Given the description of an element on the screen output the (x, y) to click on. 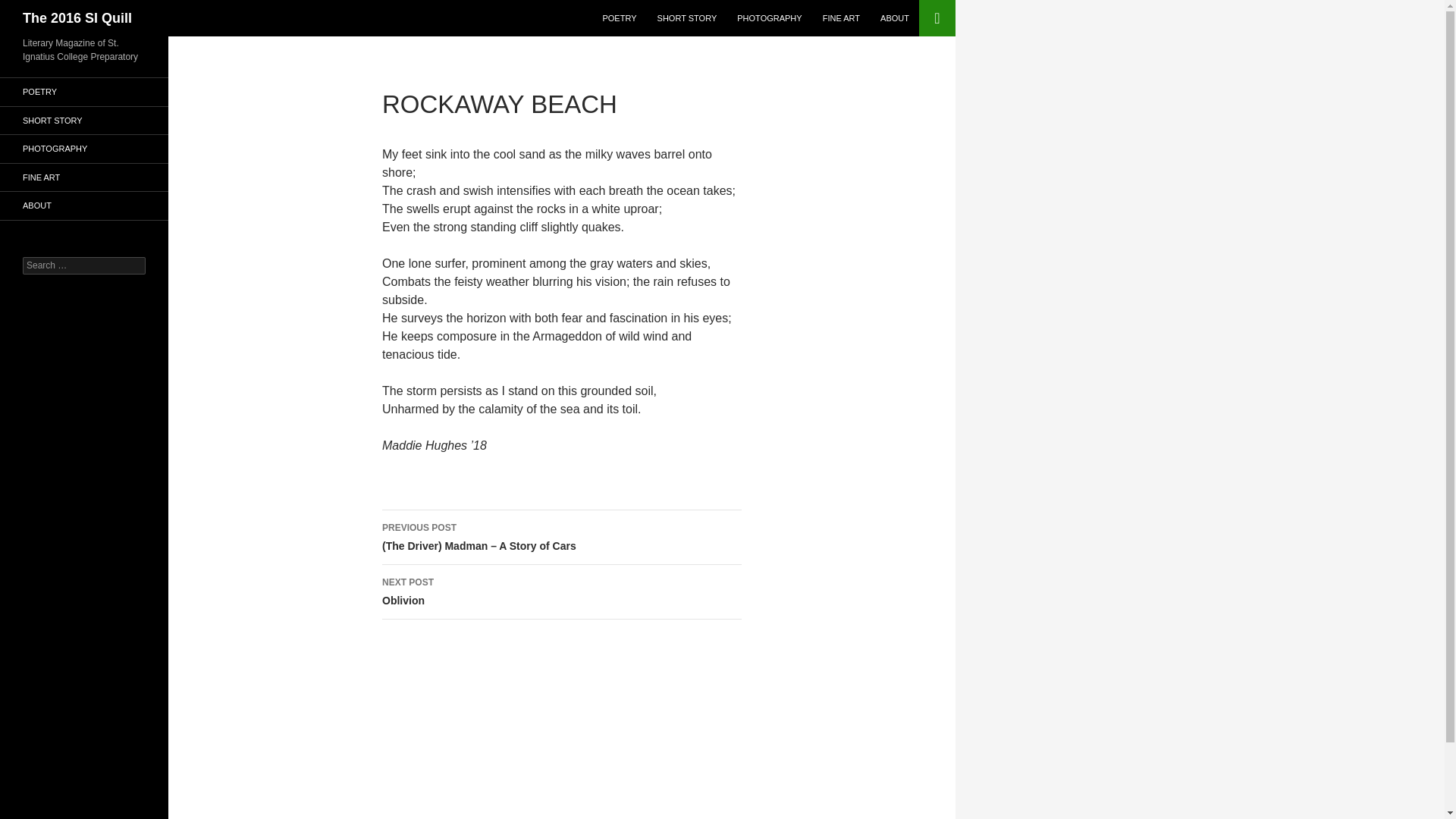
The 2016 SI Quill (77, 18)
FINE ART (841, 18)
FINE ART (84, 177)
POETRY (618, 18)
SHORT STORY (561, 592)
ABOUT (686, 18)
Search (84, 205)
SHORT STORY (30, 8)
ABOUT (84, 120)
PHOTOGRAPHY (894, 18)
PHOTOGRAPHY (769, 18)
POETRY (84, 148)
